Given the description of an element on the screen output the (x, y) to click on. 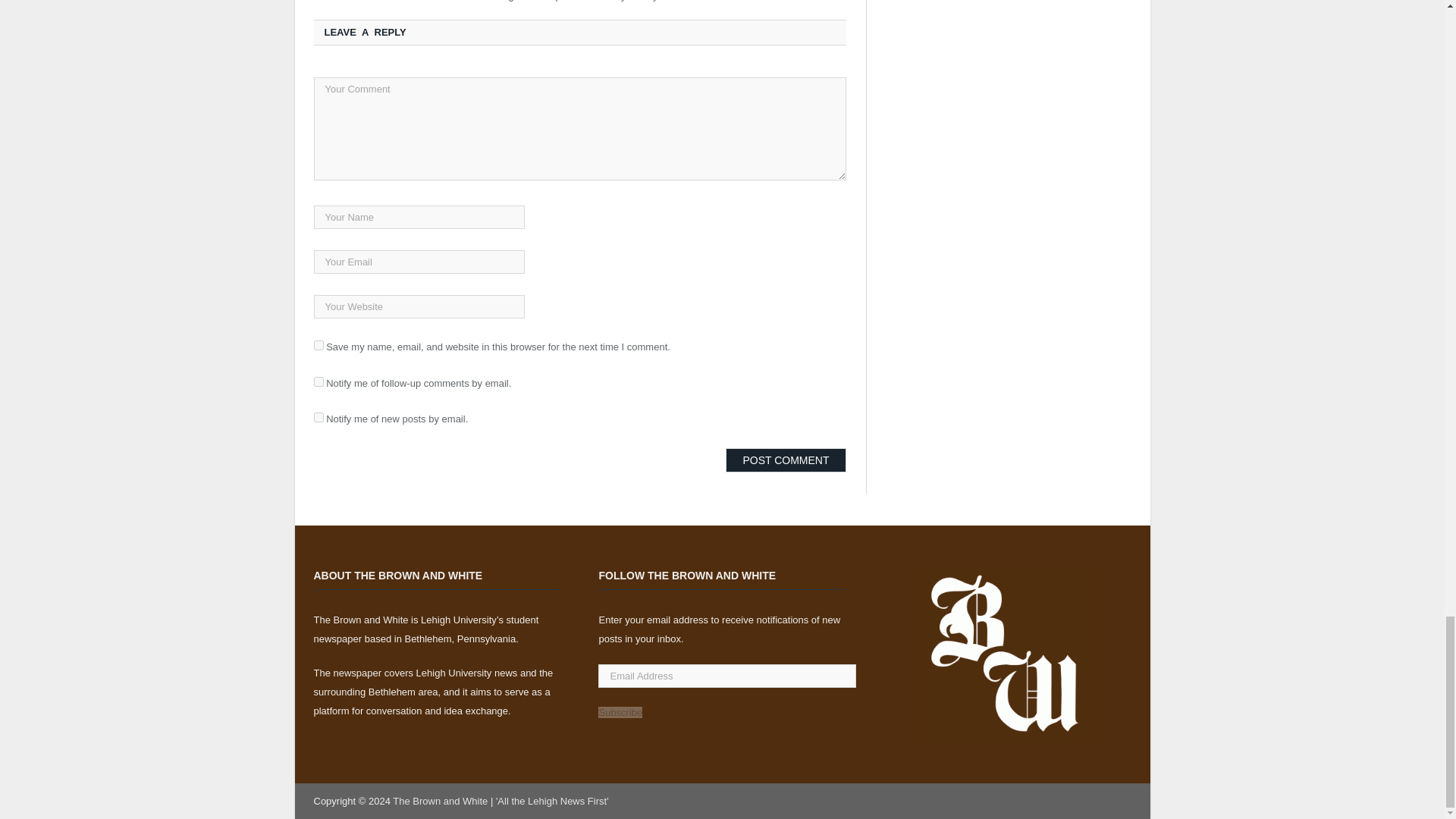
subscribe (318, 381)
yes (318, 345)
Post Comment (785, 459)
subscribe (318, 417)
